Given the description of an element on the screen output the (x, y) to click on. 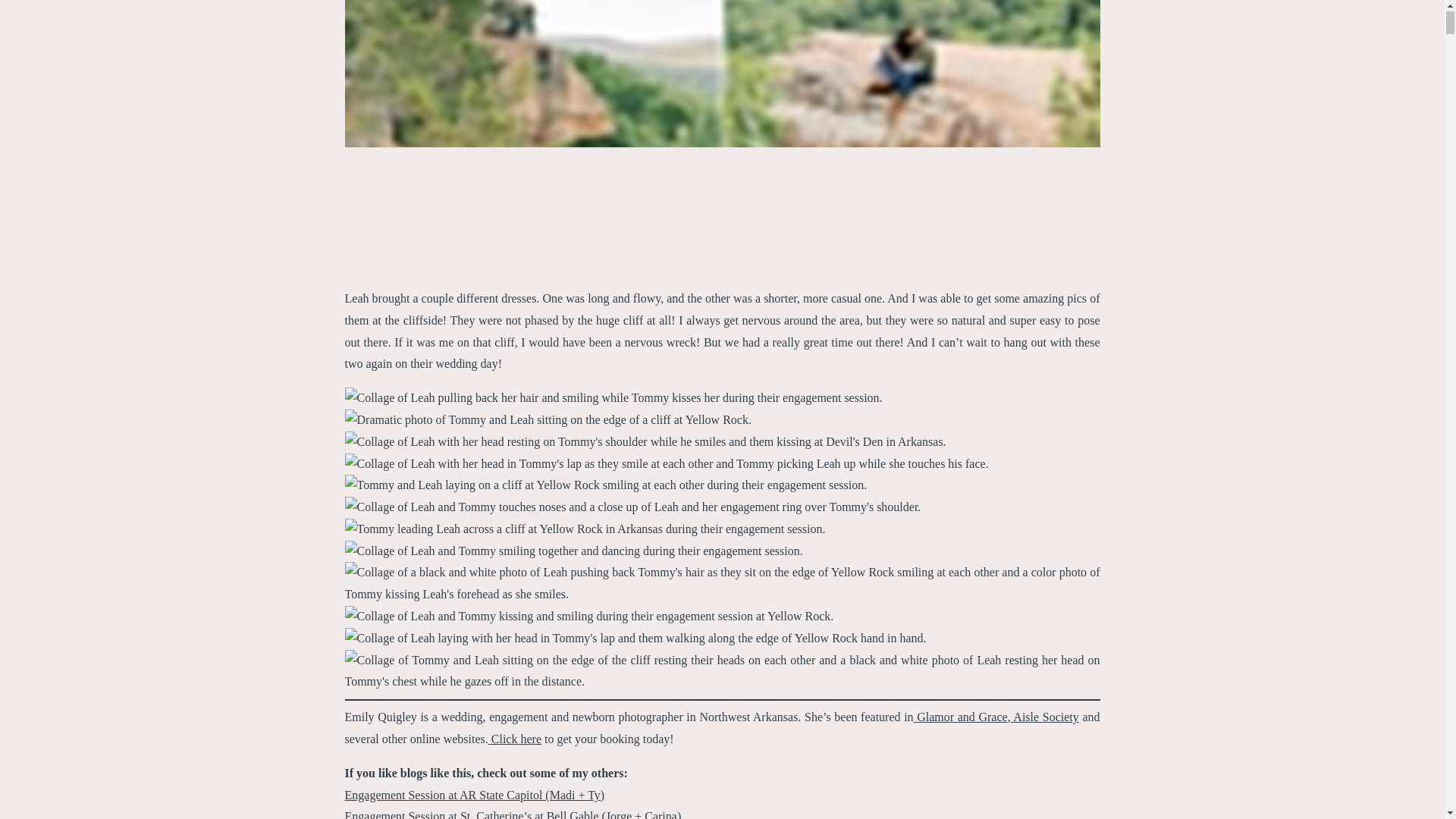
Glamor and Grace (960, 716)
Click here (514, 738)
Aisle Society (1044, 716)
